Given the description of an element on the screen output the (x, y) to click on. 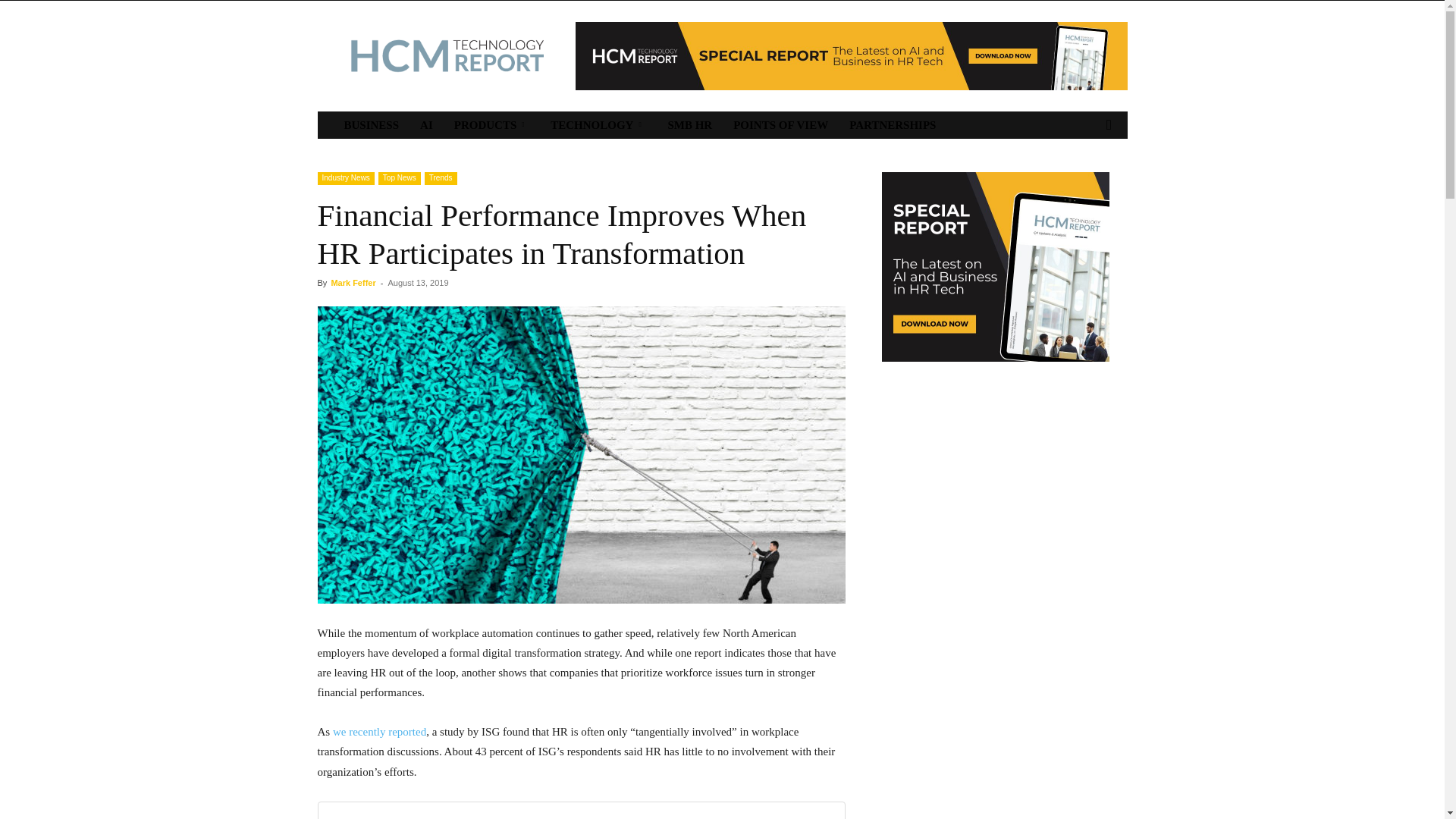
BUSINESS (371, 124)
AI (426, 124)
PRODUCTS (492, 124)
